Given the description of an element on the screen output the (x, y) to click on. 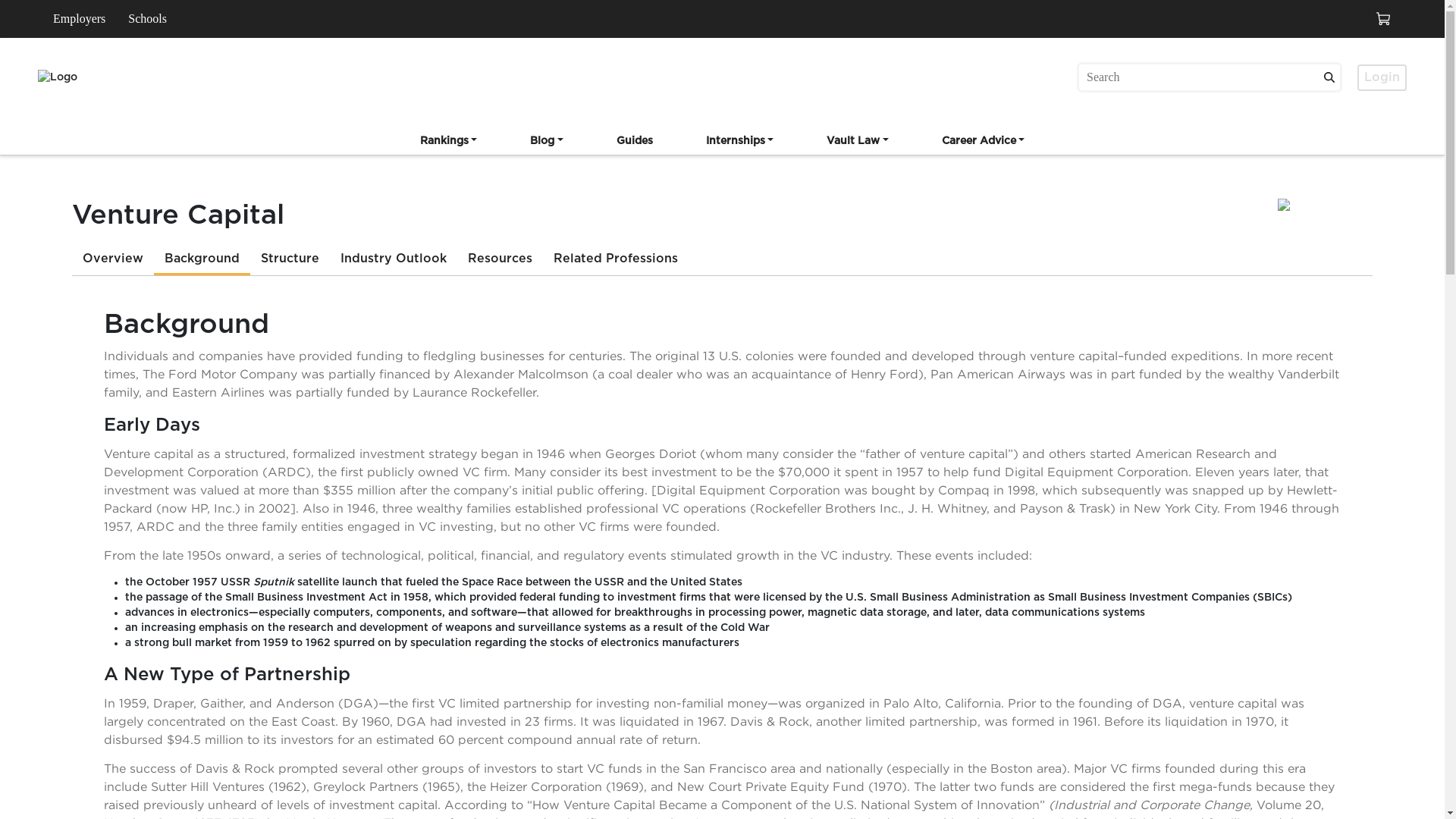
Related Professions (615, 260)
Internships (739, 141)
Login (1381, 76)
Industry Outlook (393, 260)
Overview (112, 260)
Guides (634, 142)
Internships (739, 142)
Vault Law (857, 142)
Resources (500, 260)
